Given the description of an element on the screen output the (x, y) to click on. 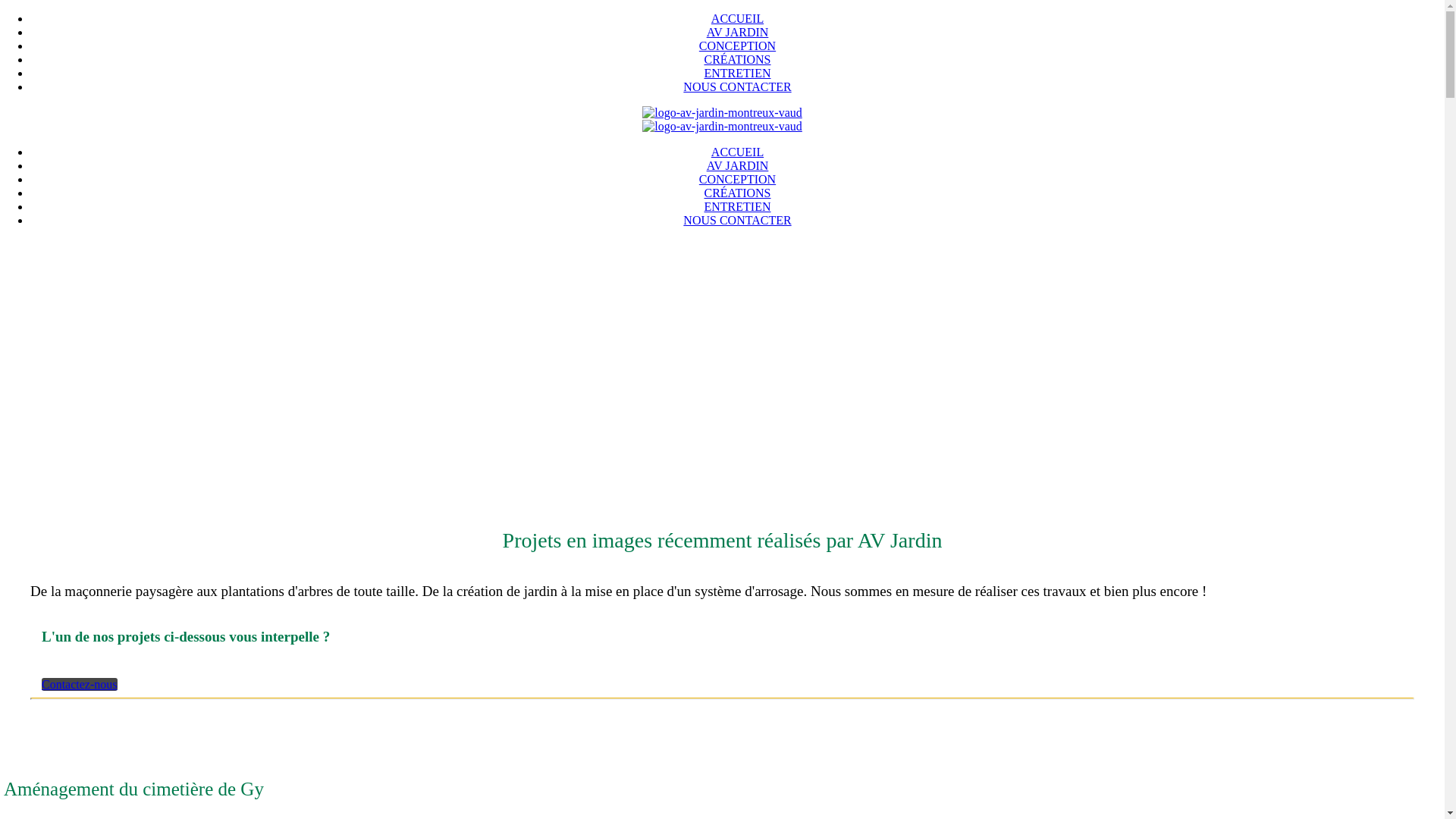
ACCUEIL Element type: text (737, 151)
NOUS CONTACTER Element type: text (736, 219)
NOUS CONTACTER Element type: text (736, 86)
ENTRETIEN Element type: text (736, 72)
CONCEPTION Element type: text (737, 178)
AV JARDIN Element type: text (737, 31)
ENTRETIEN Element type: text (736, 206)
Contactez-nous Element type: text (79, 683)
ACCUEIL Element type: text (737, 18)
AV JARDIN Element type: text (737, 165)
CONCEPTION Element type: text (737, 45)
